Given the description of an element on the screen output the (x, y) to click on. 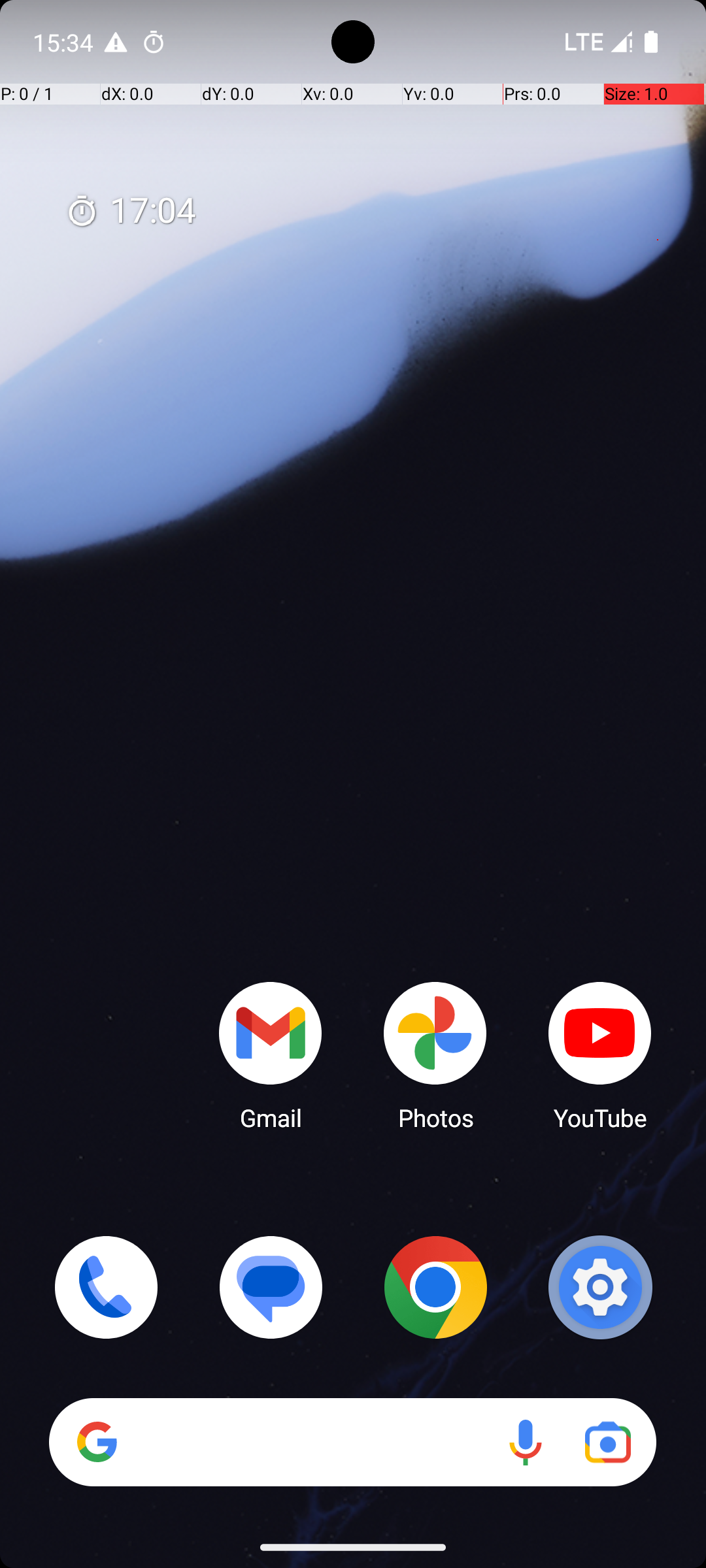
17:04 Element type: android.widget.TextView (130, 210)
